Given the description of an element on the screen output the (x, y) to click on. 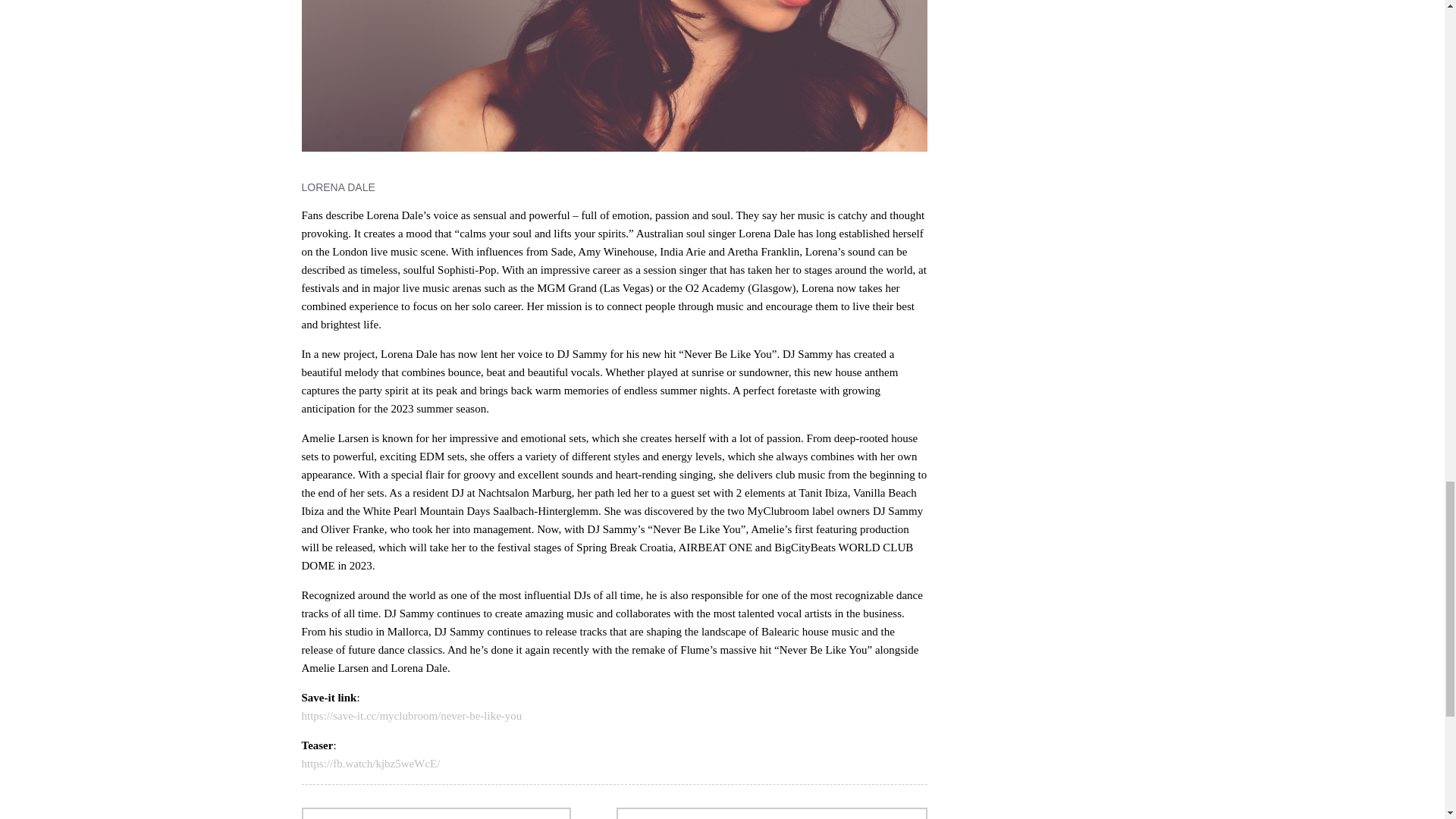
One World Radio kicks off the Tomorrowland Top 1000! (770, 813)
Ultra Europe Drops Phase 2 of Stacked Lineup (435, 813)
